Given the description of an element on the screen output the (x, y) to click on. 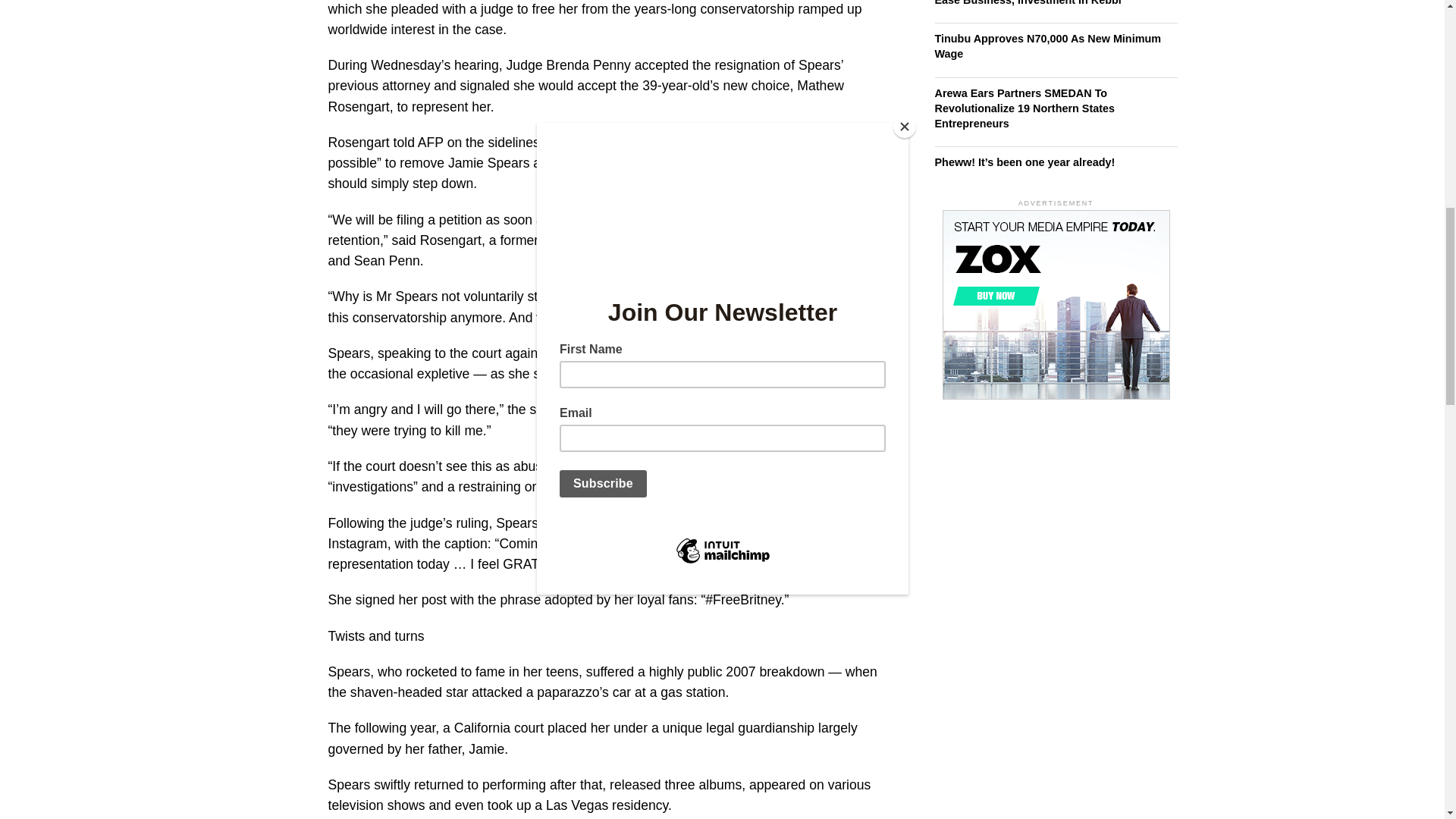
Tinubu Approves N70,000 As New Minimum Wage (1047, 45)
